Given the description of an element on the screen output the (x, y) to click on. 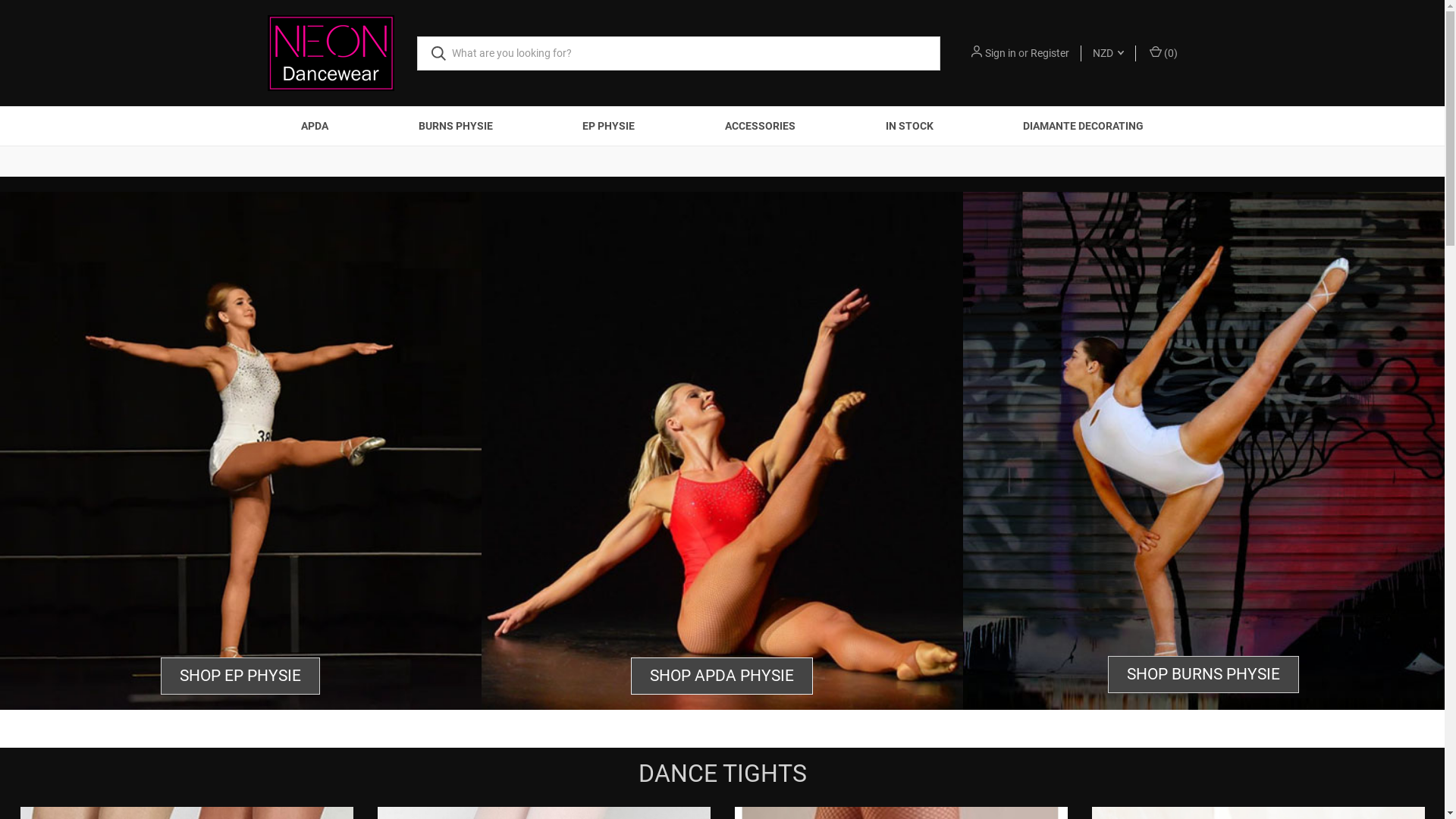
SHOP BURNS PHYSIE Element type: text (1203, 674)
DIAMANTE DECORATING Element type: text (1083, 125)
IN STOCK Element type: text (909, 125)
APDA Element type: text (314, 125)
Register Element type: text (1048, 53)
ACCESSORIES Element type: text (760, 125)
Neon Dancewear Element type: hover (329, 53)
SHOP APDA PHYSIE Element type: text (721, 675)
BURNS PHYSIE Element type: text (455, 125)
Sign in Element type: text (999, 53)
NZD Element type: text (1108, 53)
SHOP EP PHYSIE Element type: text (240, 675)
EP PHYSIE Element type: text (608, 125)
(0) Element type: text (1161, 53)
